Given the description of an element on the screen output the (x, y) to click on. 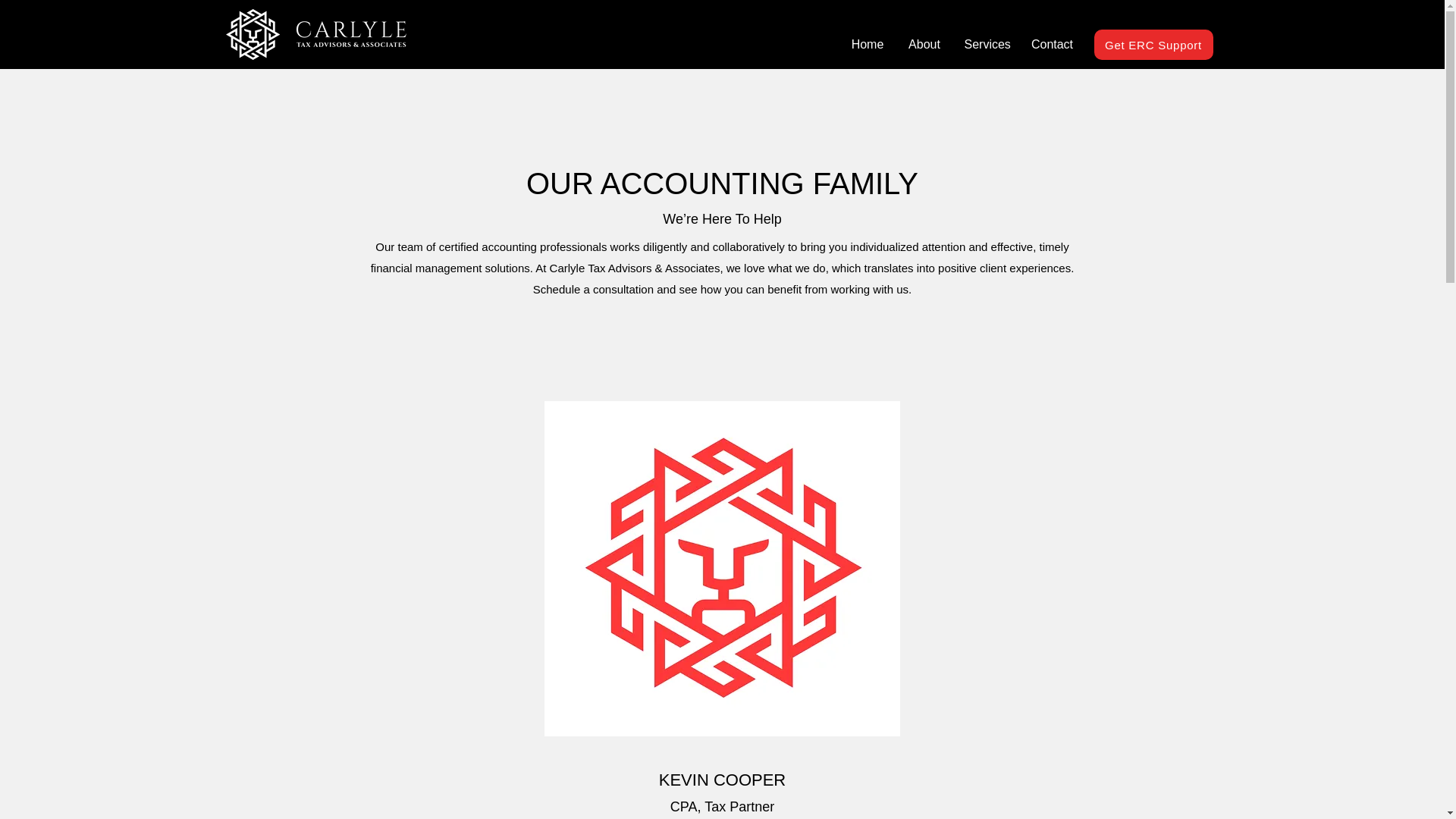
Home (866, 44)
Services (985, 44)
Contact (1051, 44)
About (924, 44)
Get ERC Support (1152, 44)
